Given the description of an element on the screen output the (x, y) to click on. 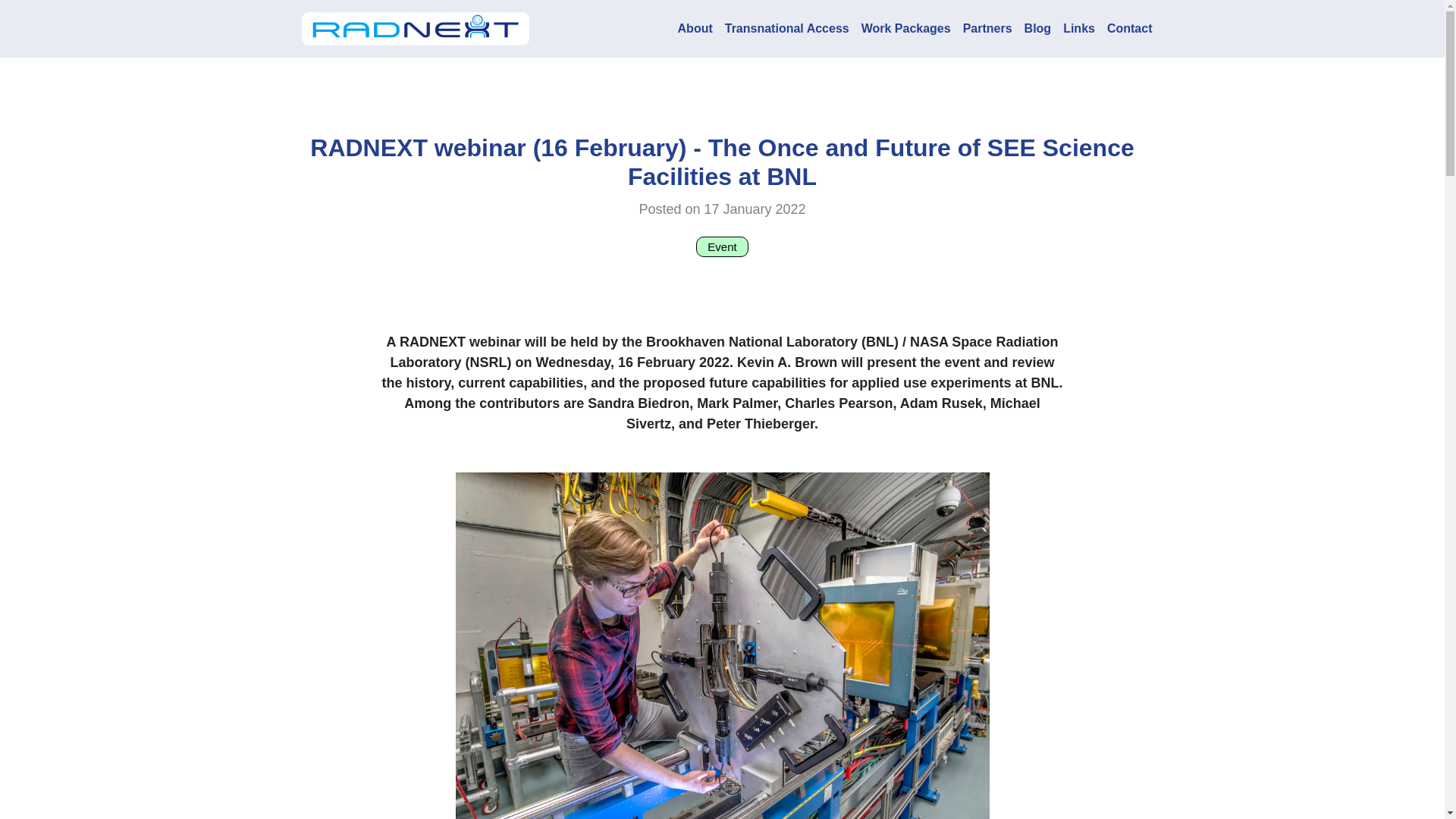
Blog Element type: text (1037, 28)
About Element type: text (694, 28)
Contact Element type: text (1129, 28)
Links Element type: text (1079, 28)
Work Packages Element type: text (906, 28)
Transnational Access Element type: text (786, 28)
Partners Element type: text (987, 28)
